Given the description of an element on the screen output the (x, y) to click on. 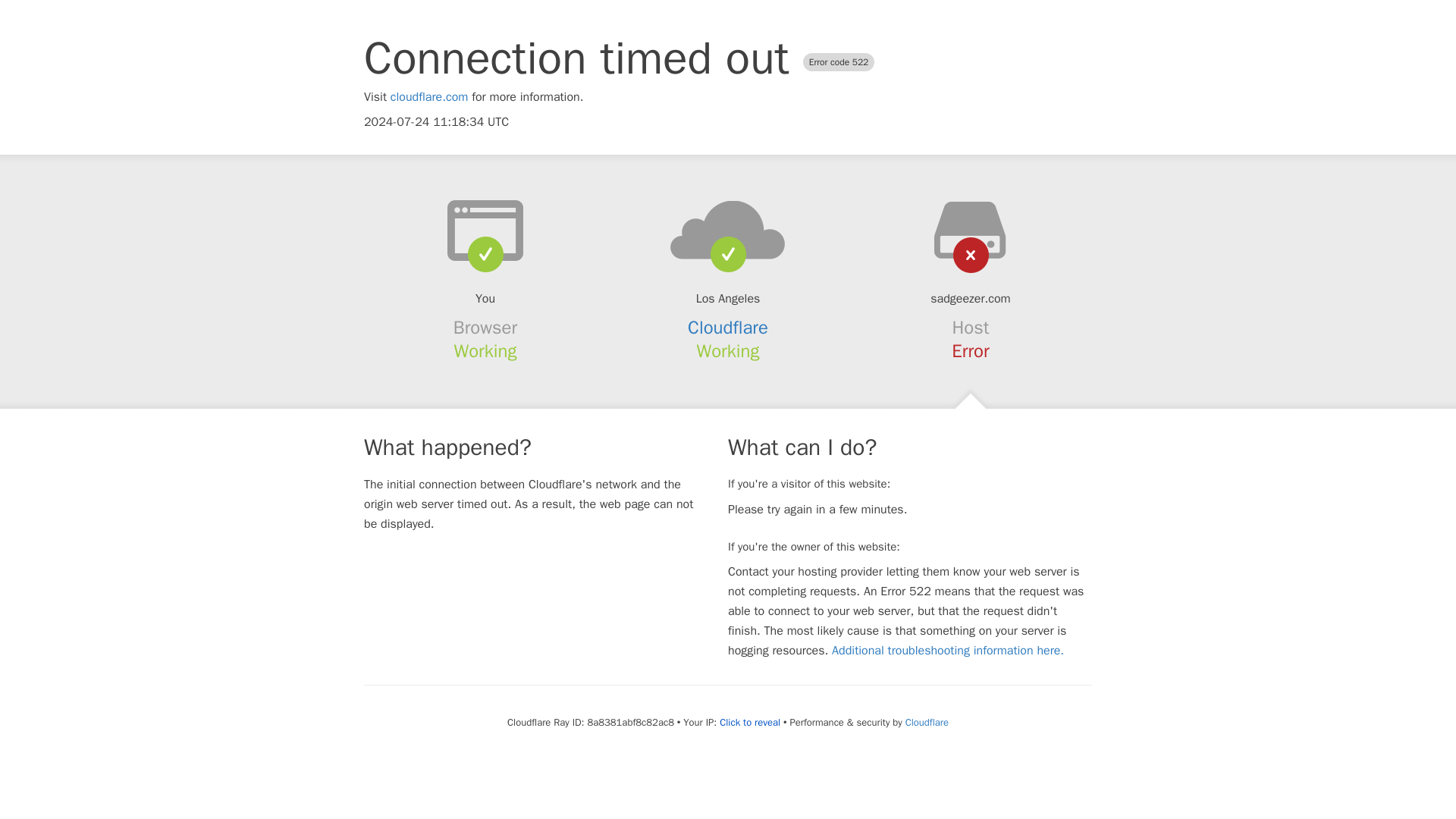
Click to reveal (749, 722)
Cloudflare (727, 327)
cloudflare.com (429, 96)
Cloudflare (927, 721)
Additional troubleshooting information here. (947, 650)
